Given the description of an element on the screen output the (x, y) to click on. 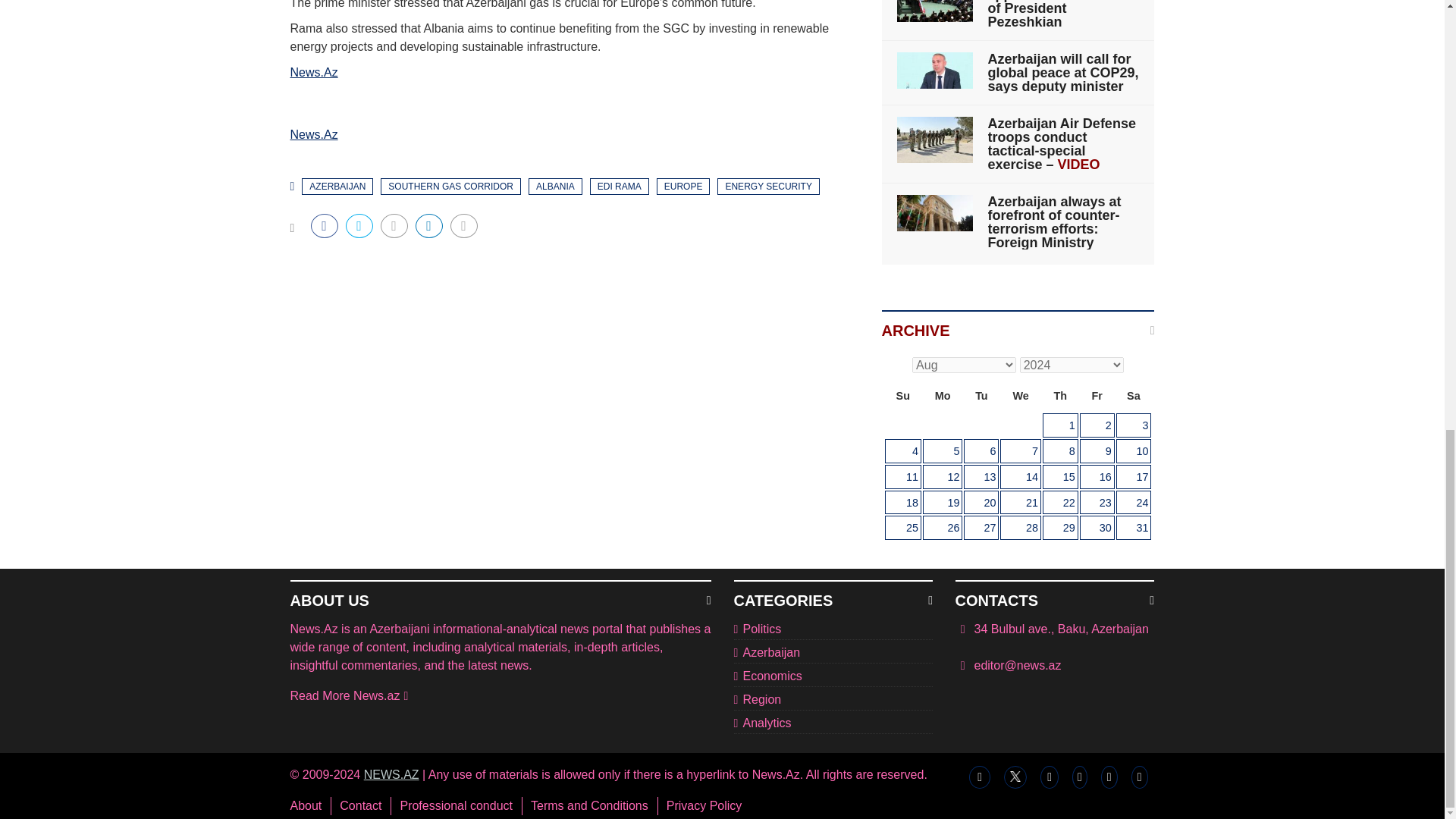
Share news on Facebook (324, 225)
SOUTHERN GAS CORRIDOR (450, 186)
News.Az (313, 72)
AZERBAIJAN (336, 186)
EDI RAMA (619, 186)
News.Az (313, 133)
Share news on Twitter (359, 225)
ENERGY SECURITY (767, 186)
ALBANIA (555, 186)
EUROPE (683, 186)
